Given the description of an element on the screen output the (x, y) to click on. 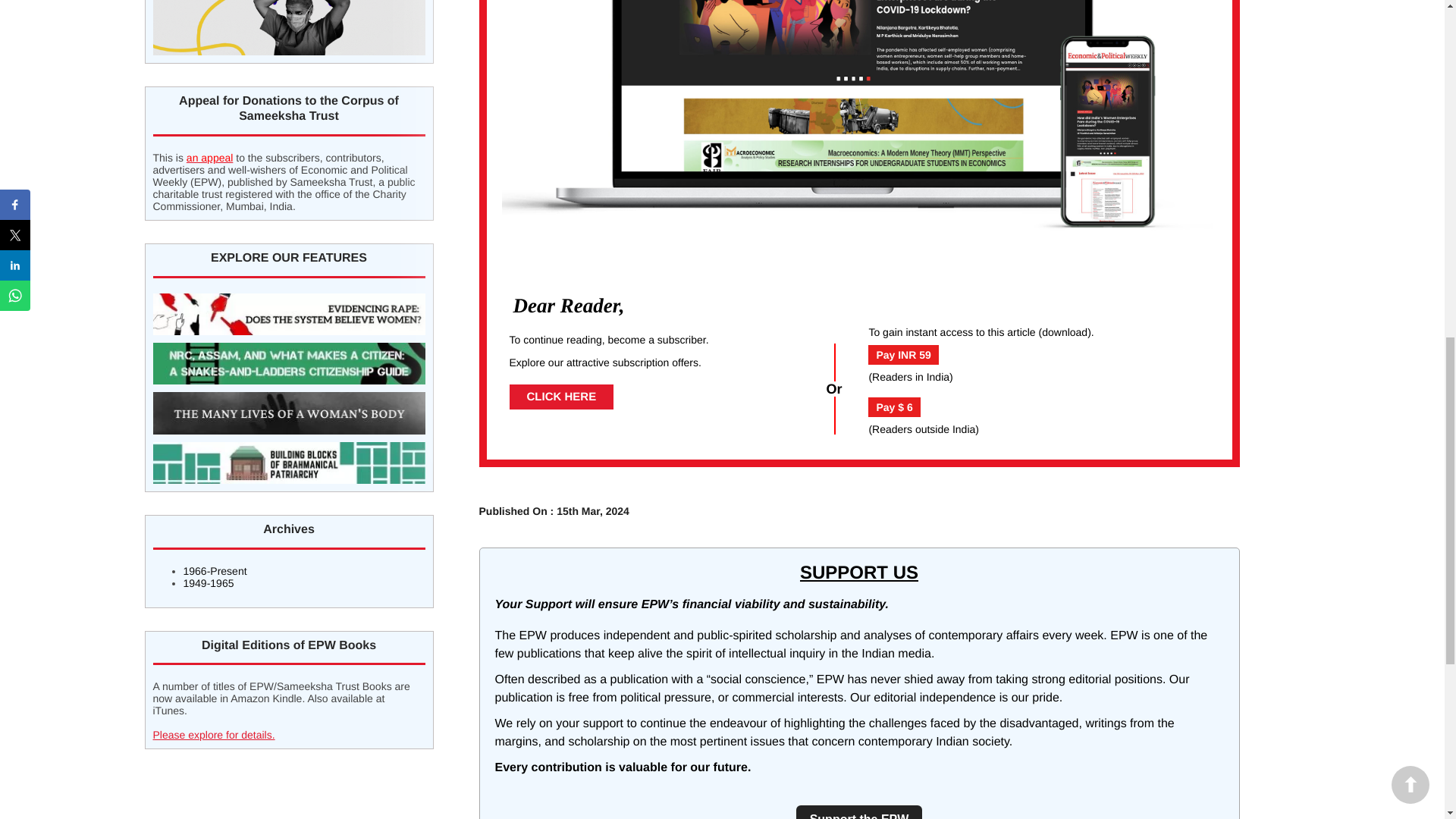
Support the EPW (859, 812)
